Given the description of an element on the screen output the (x, y) to click on. 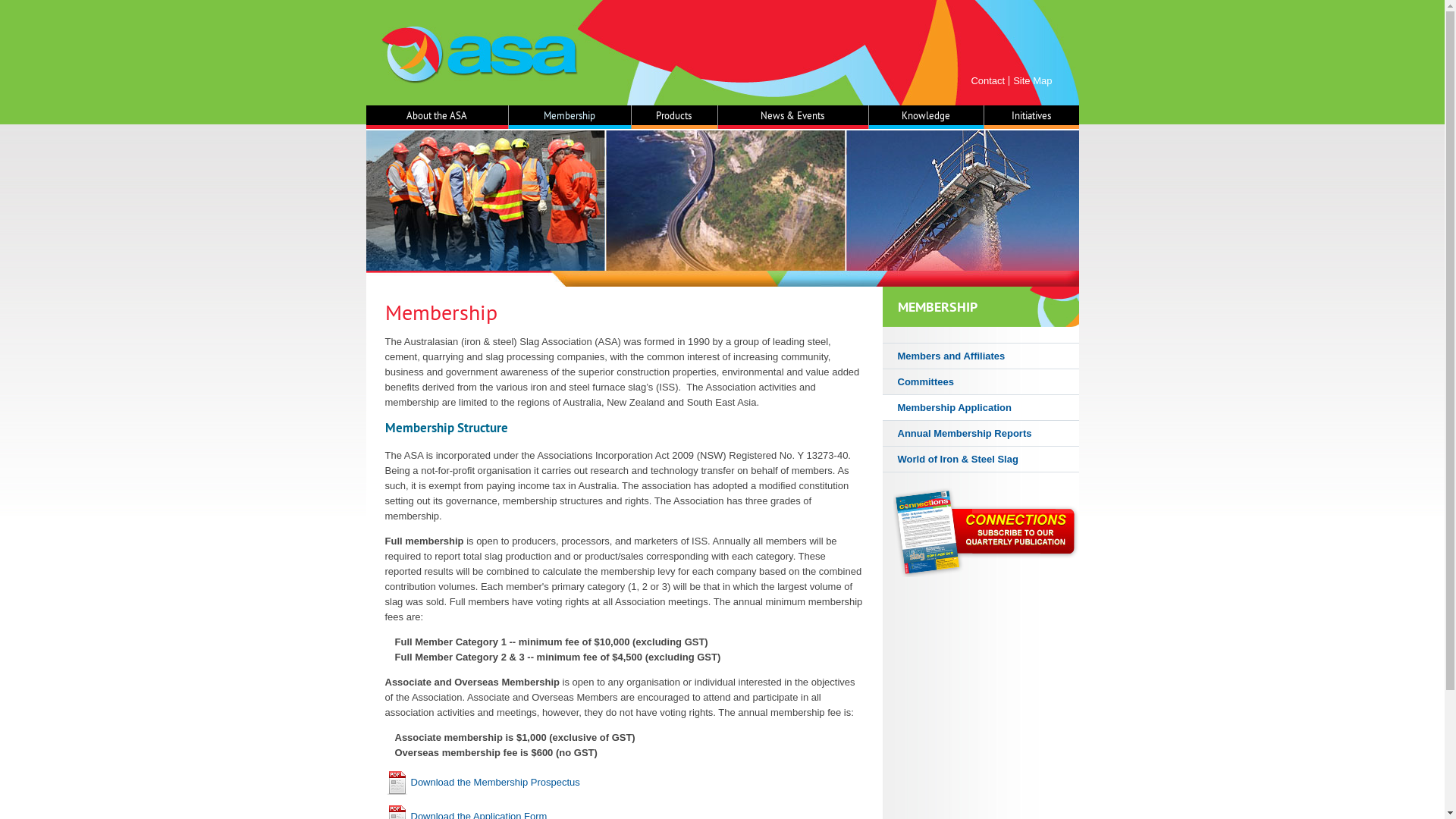
Membership Element type: text (569, 116)
Products Element type: text (673, 116)
Subscribe to Connections Element type: hover (986, 532)
Membership Application Element type: text (980, 407)
Download the Membership Prospectus Element type: text (482, 782)
News & Events Element type: text (793, 116)
ASA Element type: hover (478, 54)
Members and Affiliates Element type: text (980, 356)
Site Map Element type: text (1032, 80)
World of Iron & Steel Slag Element type: text (980, 459)
About the ASA Element type: text (436, 116)
Initiatives Element type: text (1031, 116)
Annual Membership Reports Element type: text (980, 433)
Contact Element type: text (987, 80)
MEMBERSHIP Element type: text (980, 306)
Knowledge Element type: text (926, 116)
Committees Element type: text (980, 382)
